Given the description of an element on the screen output the (x, y) to click on. 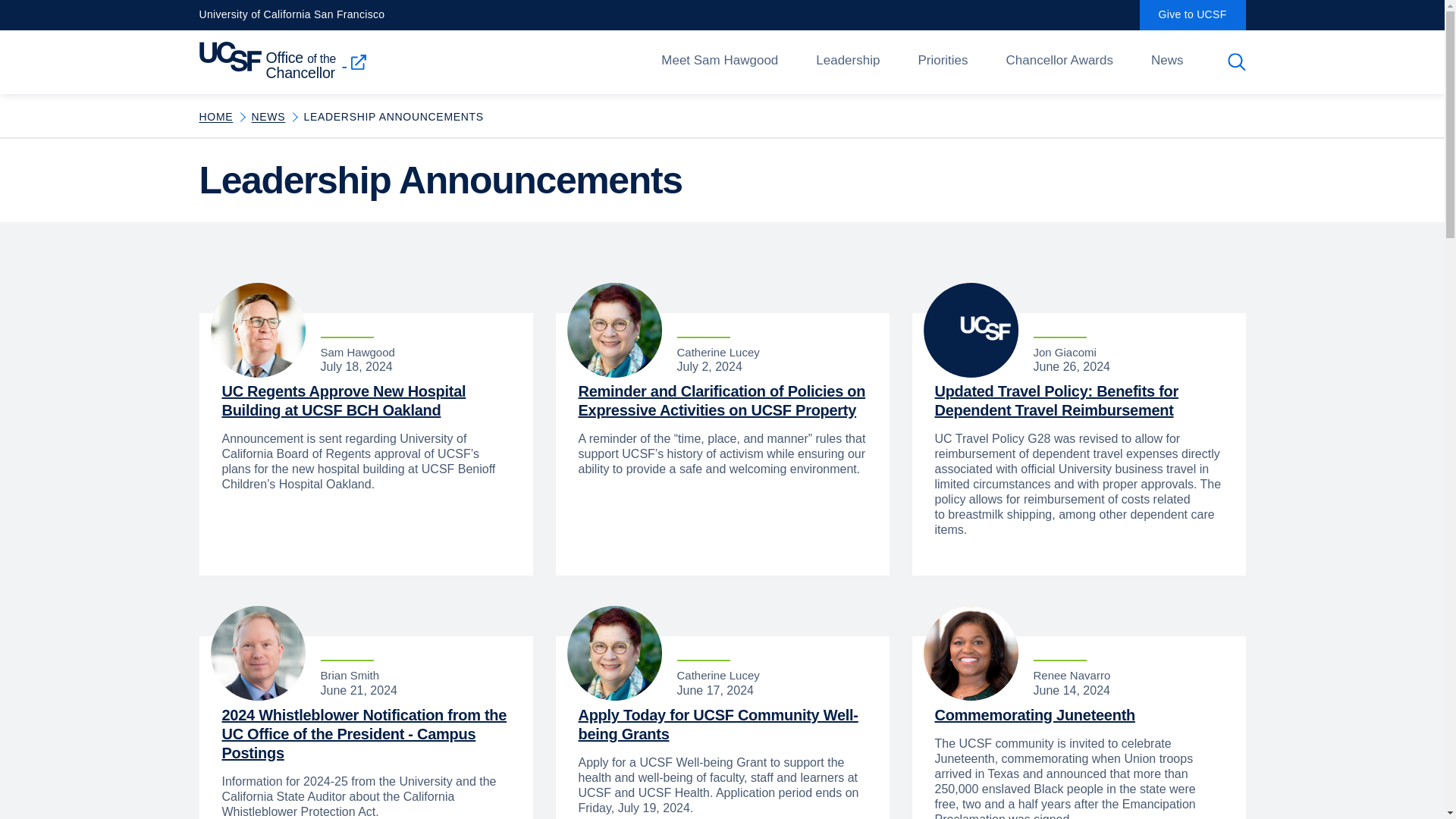
Chancellor Awards (1059, 62)
Priorities (942, 62)
Leadership (847, 62)
Meet Sam Hawgood (719, 62)
Toggle Search Form (1237, 62)
Office of the Chancellor homepage (283, 60)
News (1167, 62)
